Given the description of an element on the screen output the (x, y) to click on. 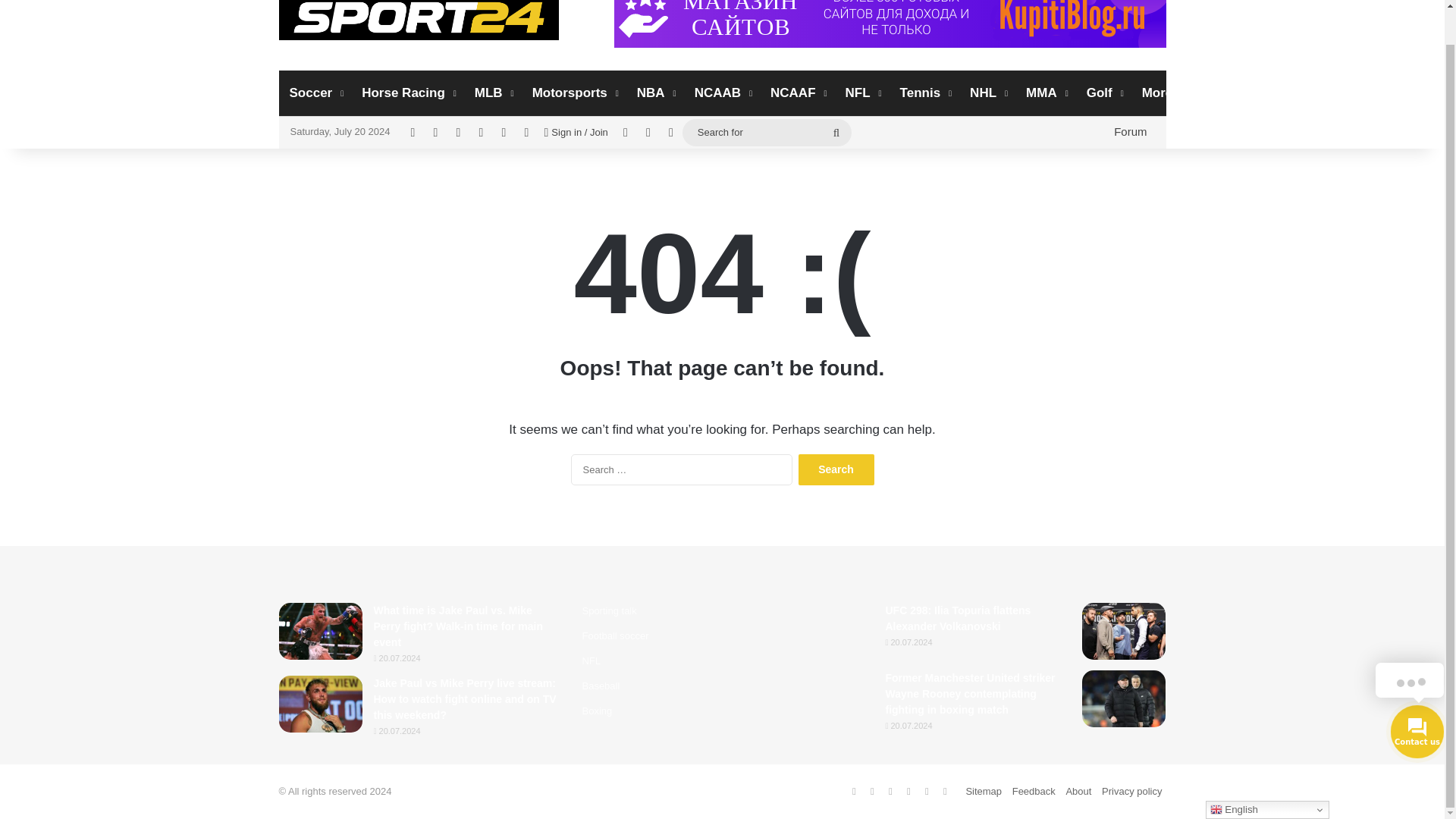
Search (835, 469)
MLB (492, 93)
Search (835, 469)
Soccer (315, 93)
NBA (655, 93)
Search for (766, 131)
Horse Racing (407, 93)
Motorsports (573, 93)
